Given the description of an element on the screen output the (x, y) to click on. 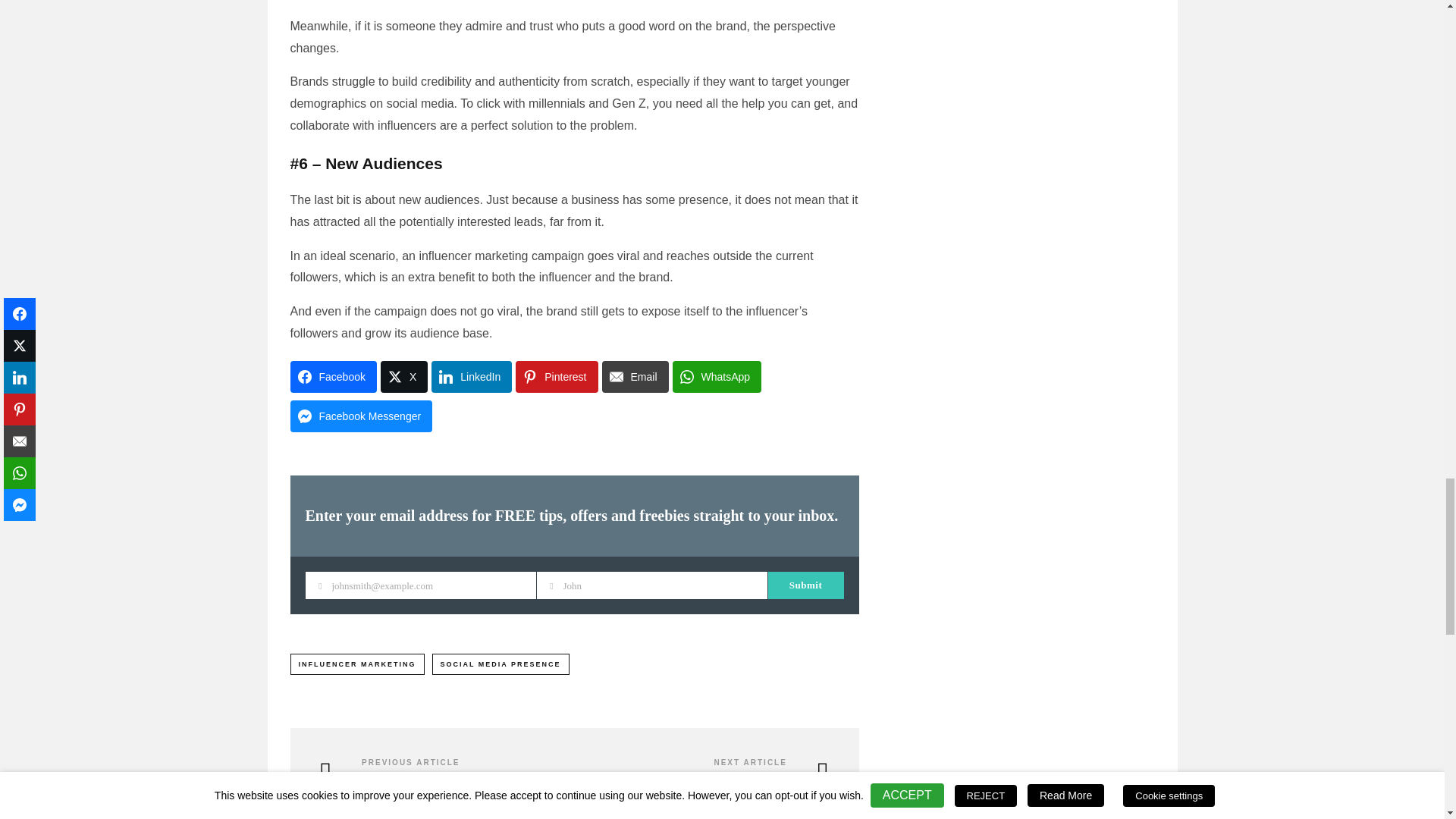
Share on Facebook (332, 377)
